Given the description of an element on the screen output the (x, y) to click on. 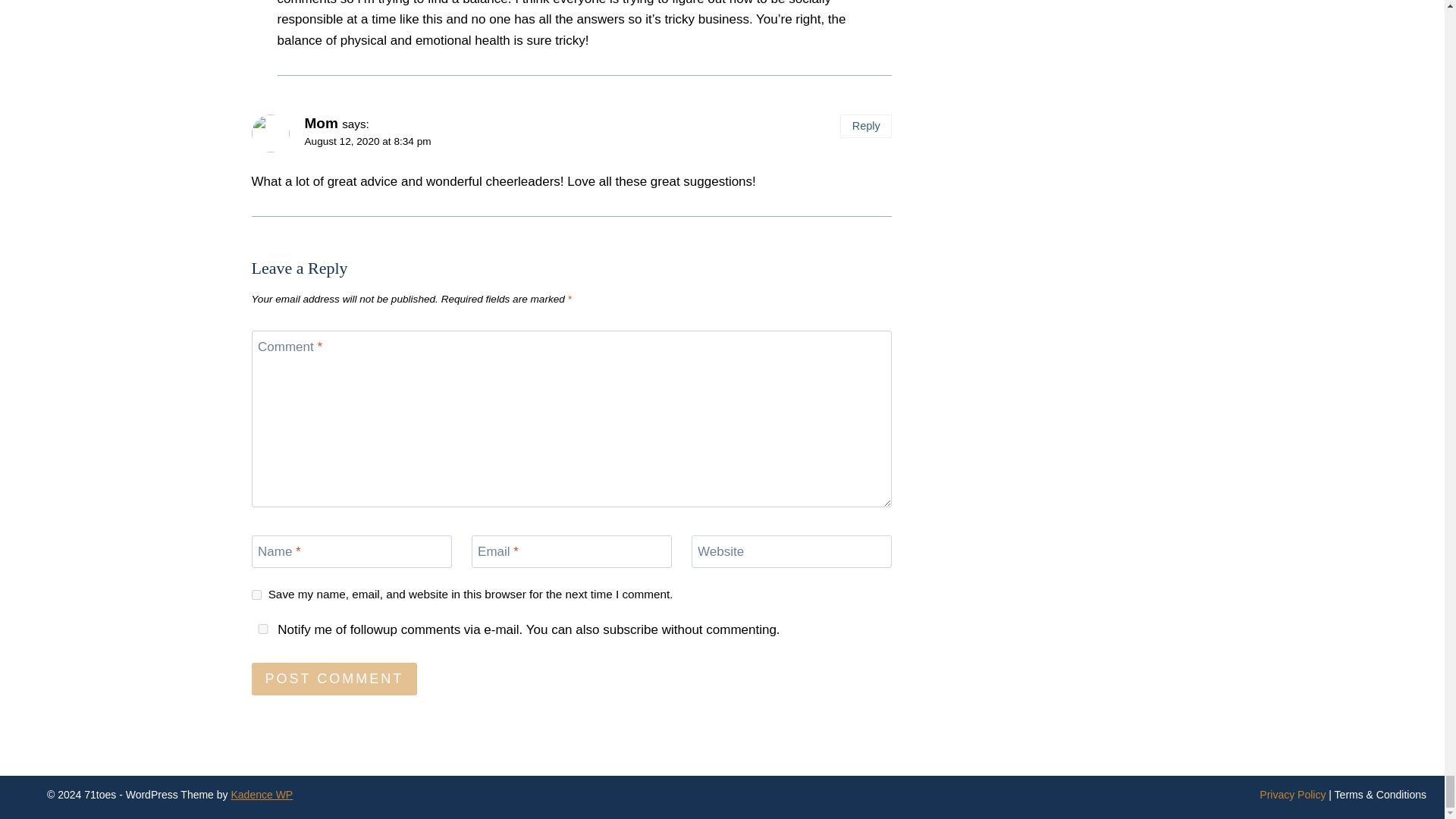
yes (263, 628)
Post Comment (334, 678)
yes (256, 594)
